Given the description of an element on the screen output the (x, y) to click on. 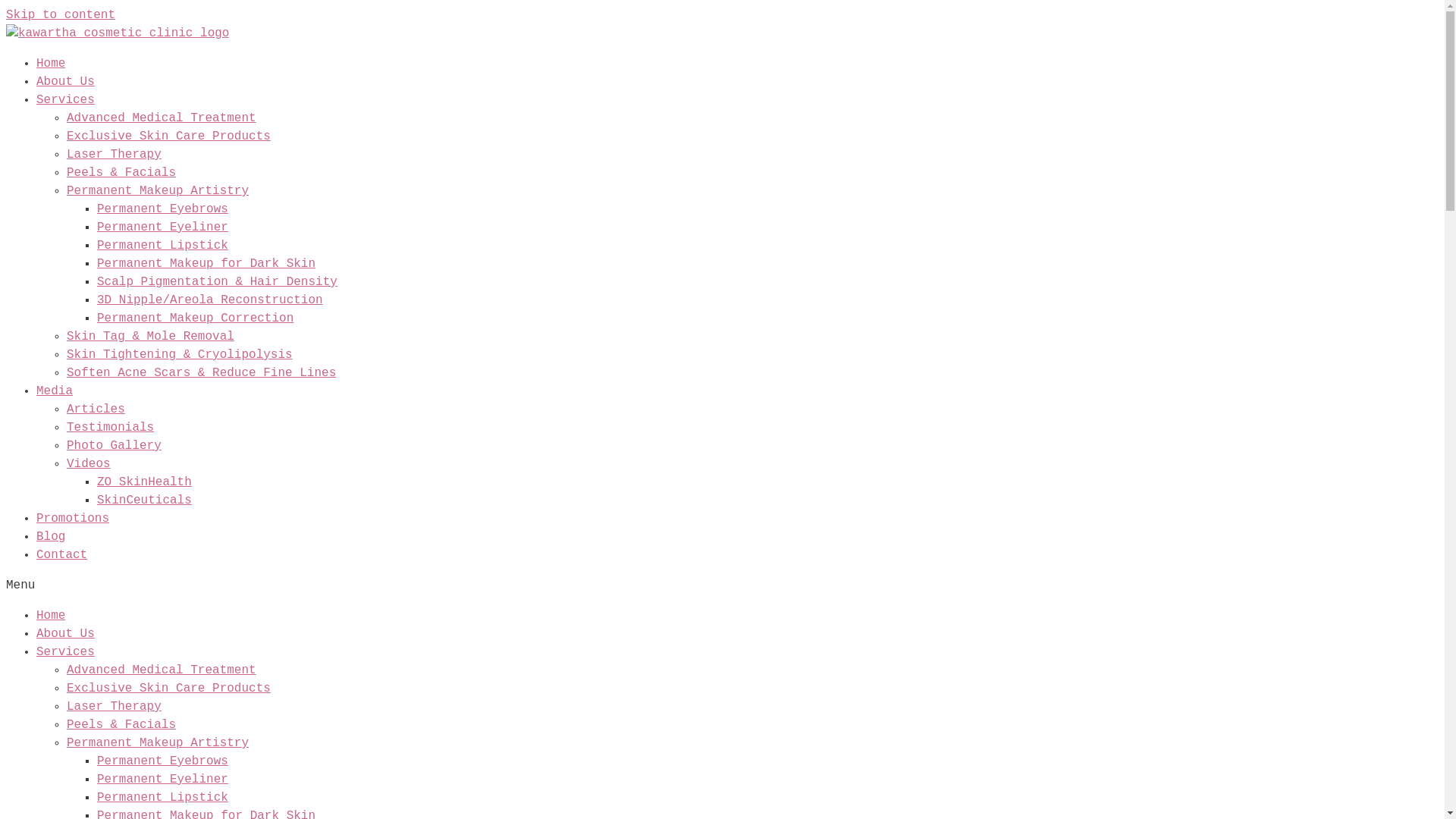
Promotions Element type: text (72, 518)
Testimonials Element type: text (109, 427)
Services Element type: text (65, 99)
Advanced Medical Treatment Element type: text (161, 118)
Services Element type: text (65, 651)
Scalp Pigmentation & Hair Density Element type: text (217, 281)
Blog Element type: text (50, 536)
Advanced Medical Treatment Element type: text (161, 670)
Laser Therapy Element type: text (113, 154)
Permanent Eyebrows Element type: text (162, 209)
Exclusive Skin Care Products Element type: text (168, 136)
3D Nipple/Areola Reconstruction Element type: text (210, 300)
Peels & Facials Element type: text (120, 724)
Permanent Lipstick Element type: text (162, 245)
Permanent Eyebrows Element type: text (162, 761)
Media Element type: text (54, 391)
Exclusive Skin Care Products Element type: text (168, 688)
Videos Element type: text (88, 463)
Home Element type: text (50, 63)
Photo Gallery Element type: text (113, 445)
Laser Therapy Element type: text (113, 706)
Skip to content Element type: text (60, 14)
Articles Element type: text (95, 409)
Contact Element type: text (61, 554)
Permanent Makeup Artistry Element type: text (157, 190)
About Us Element type: text (65, 81)
ZO SkinHealth Element type: text (144, 482)
Skin Tag & Mole Removal Element type: text (150, 336)
Permanent Eyeliner Element type: text (162, 227)
SkinCeuticals Element type: text (144, 500)
Permanent Eyeliner Element type: text (162, 779)
Permanent Makeup Correction Element type: text (195, 318)
Permanent Lipstick Element type: text (162, 797)
Permanent Makeup for Dark Skin Element type: text (206, 263)
Home Element type: text (50, 615)
Peels & Facials Element type: text (120, 172)
Skin Tightening & Cryolipolysis Element type: text (179, 354)
About Us Element type: text (65, 633)
Soften Acne Scars & Reduce Fine Lines Element type: text (200, 372)
Permanent Makeup Artistry Element type: text (157, 742)
